Given the description of an element on the screen output the (x, y) to click on. 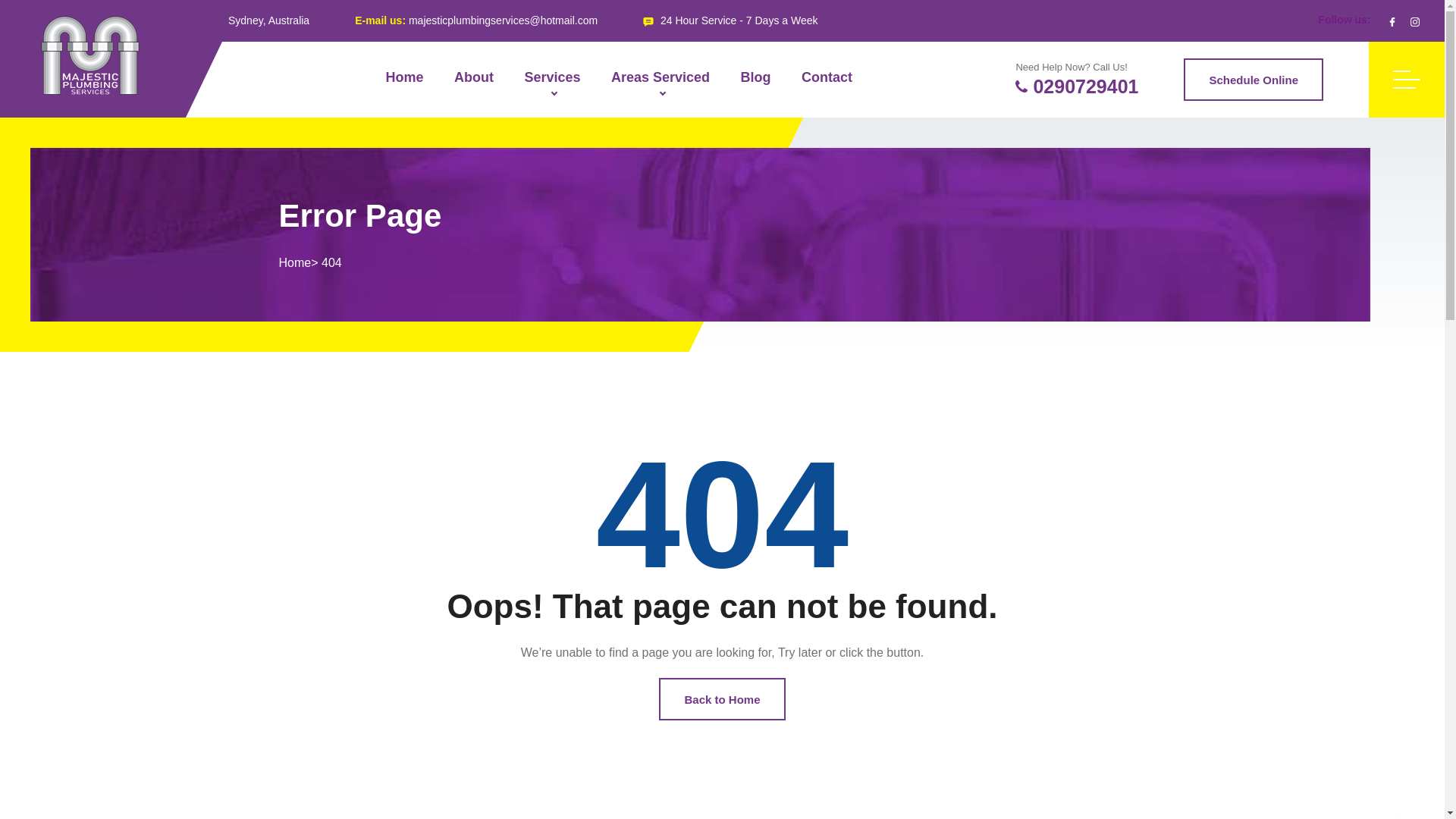
majesticplumbingservices@hotmail.com Element type: text (502, 20)
Services Element type: text (551, 79)
Home Element type: text (404, 79)
Back to Home Element type: text (721, 698)
Blog Element type: text (755, 79)
About Element type: text (473, 79)
Home Element type: text (295, 262)
Areas Serviced Element type: text (660, 79)
Contact Element type: text (826, 79)
0290729401 Element type: text (1076, 86)
